Given the description of an element on the screen output the (x, y) to click on. 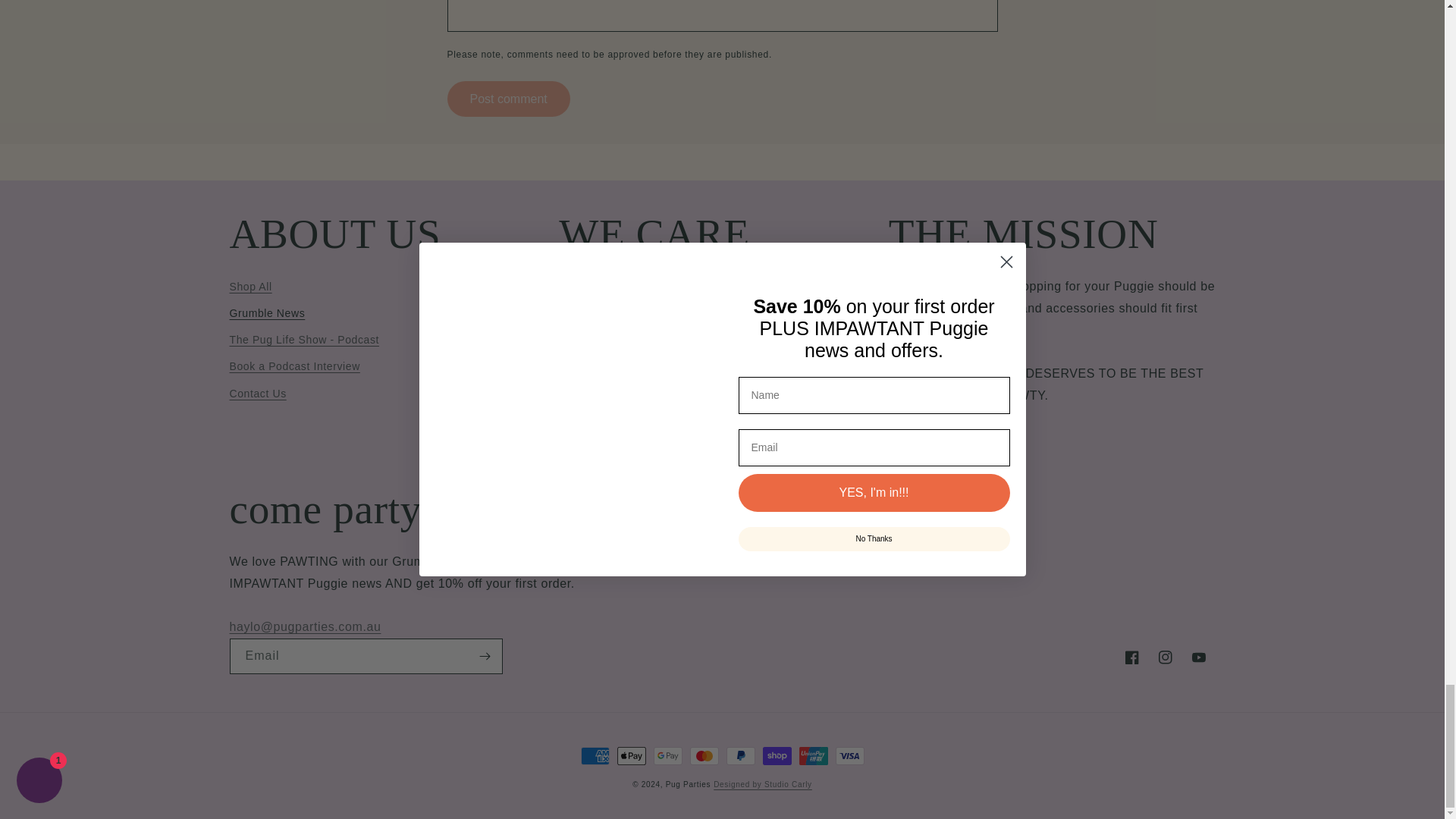
Post comment (508, 99)
